Given the description of an element on the screen output the (x, y) to click on. 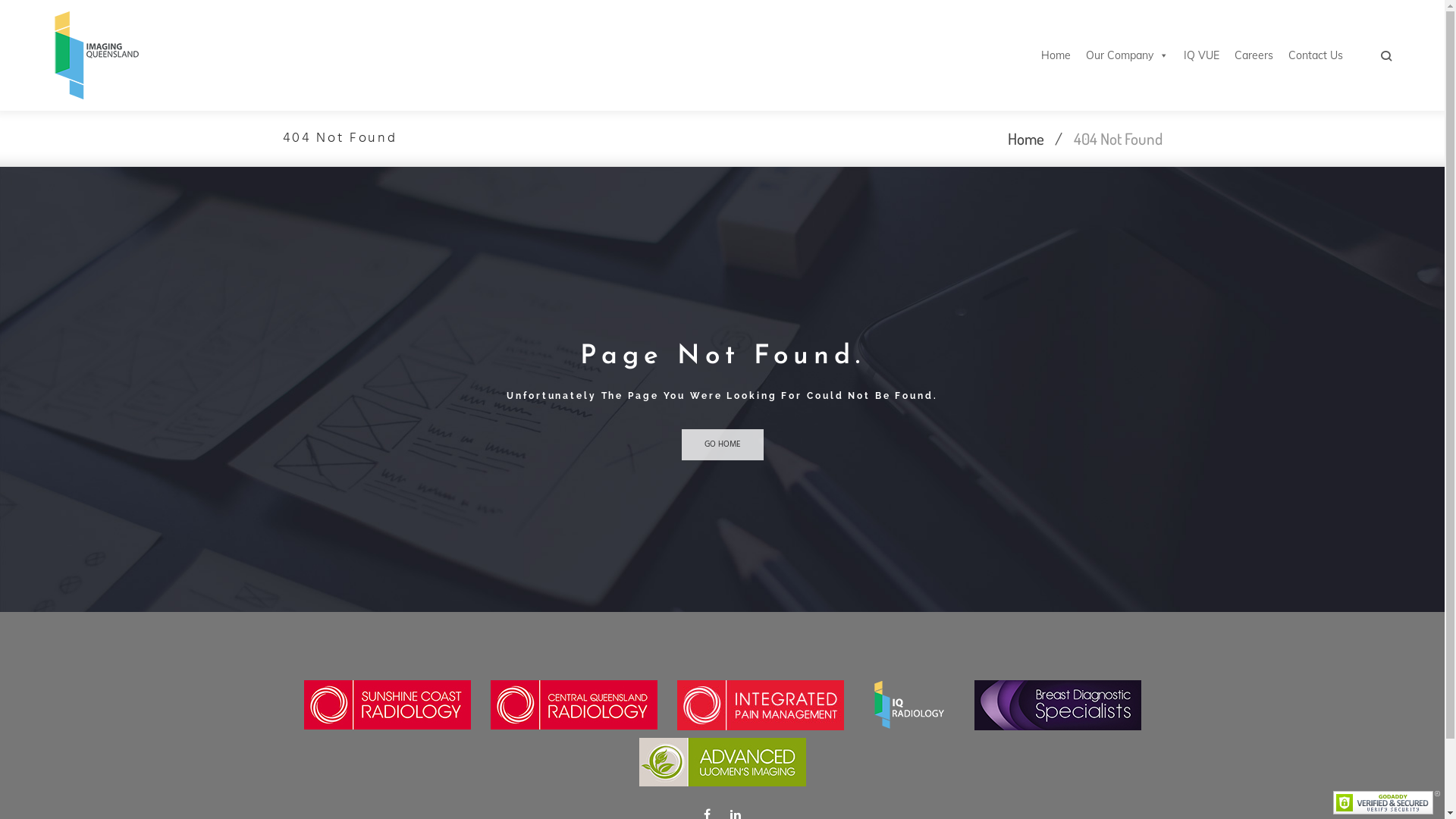
Our Company Element type: text (1127, 55)
GO HOME Element type: text (721, 444)
IQ VUE Element type: text (1201, 55)
Careers Element type: text (1253, 55)
Contact Us Element type: text (1315, 55)
Home Element type: text (1055, 55)
Home Element type: text (1025, 138)
